Given the description of an element on the screen output the (x, y) to click on. 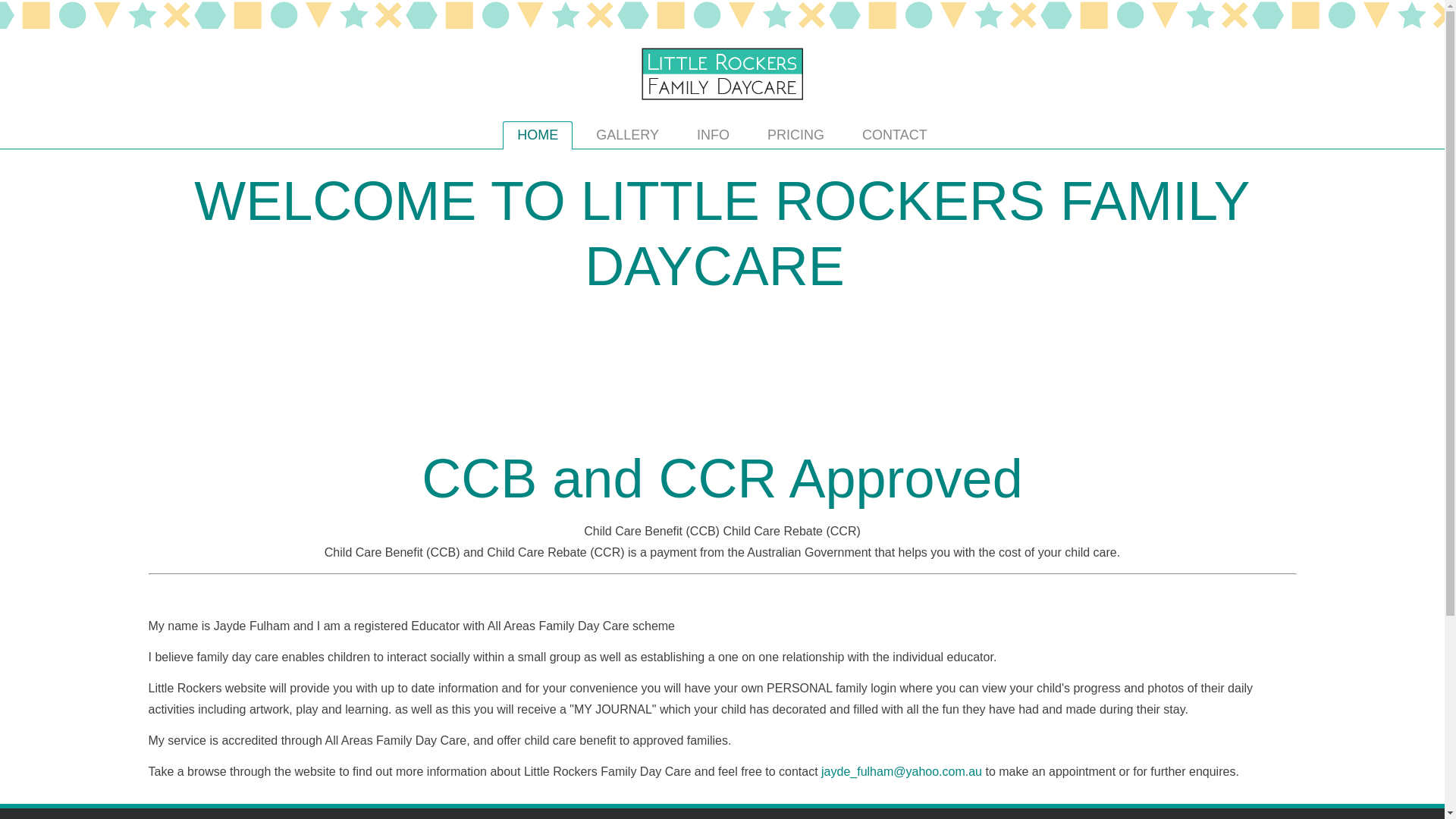
PRICING Element type: text (795, 134)
jayde_fulham@yahoo.com.au Element type: text (901, 771)
GALLERY Element type: text (627, 134)
HOME Element type: text (537, 135)
Family Daycare Home Element type: hover (721, 101)
CONTACT Element type: text (894, 134)
INFO Element type: text (712, 134)
